Given the description of an element on the screen output the (x, y) to click on. 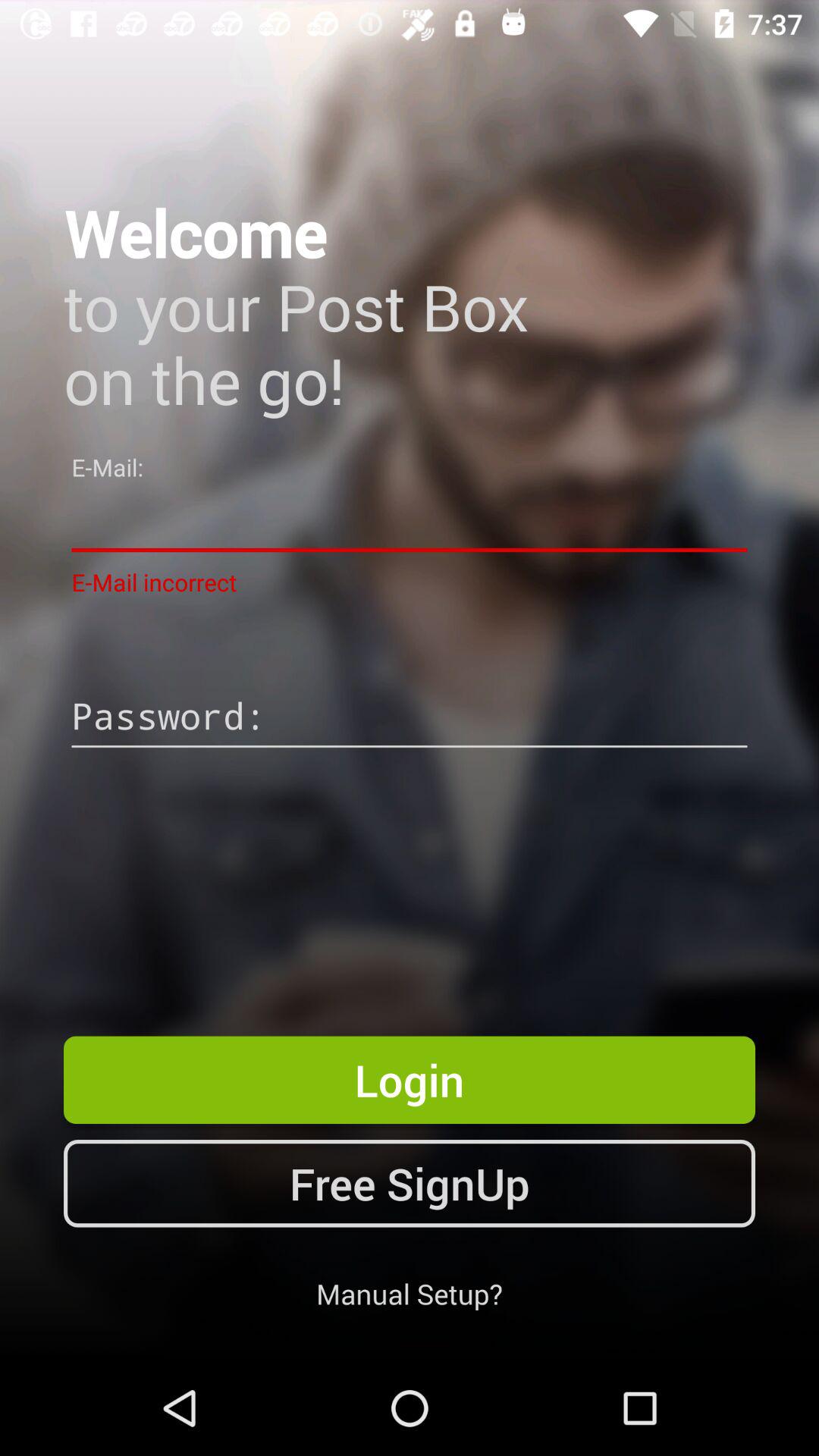
select the icon above the manual setup? icon (409, 1183)
